Given the description of an element on the screen output the (x, y) to click on. 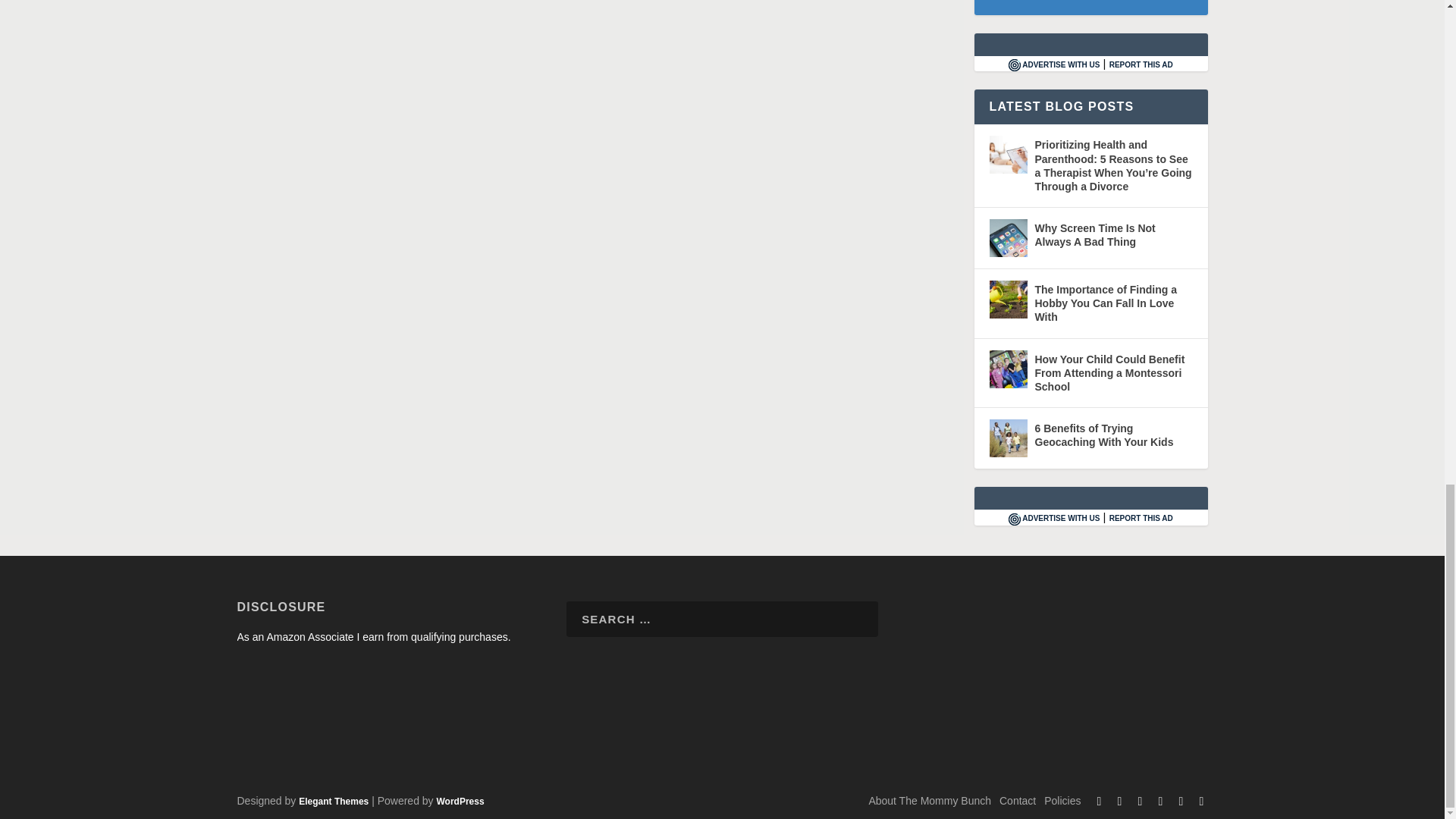
6 Benefits of Trying Geocaching With Your Kids (1007, 438)
The Importance of Finding a Hobby You Can Fall In Love With (1007, 299)
Why Screen Time Is Not Always A Bad Thing (1007, 238)
Premium WordPress Themes (333, 801)
